Given the description of an element on the screen output the (x, y) to click on. 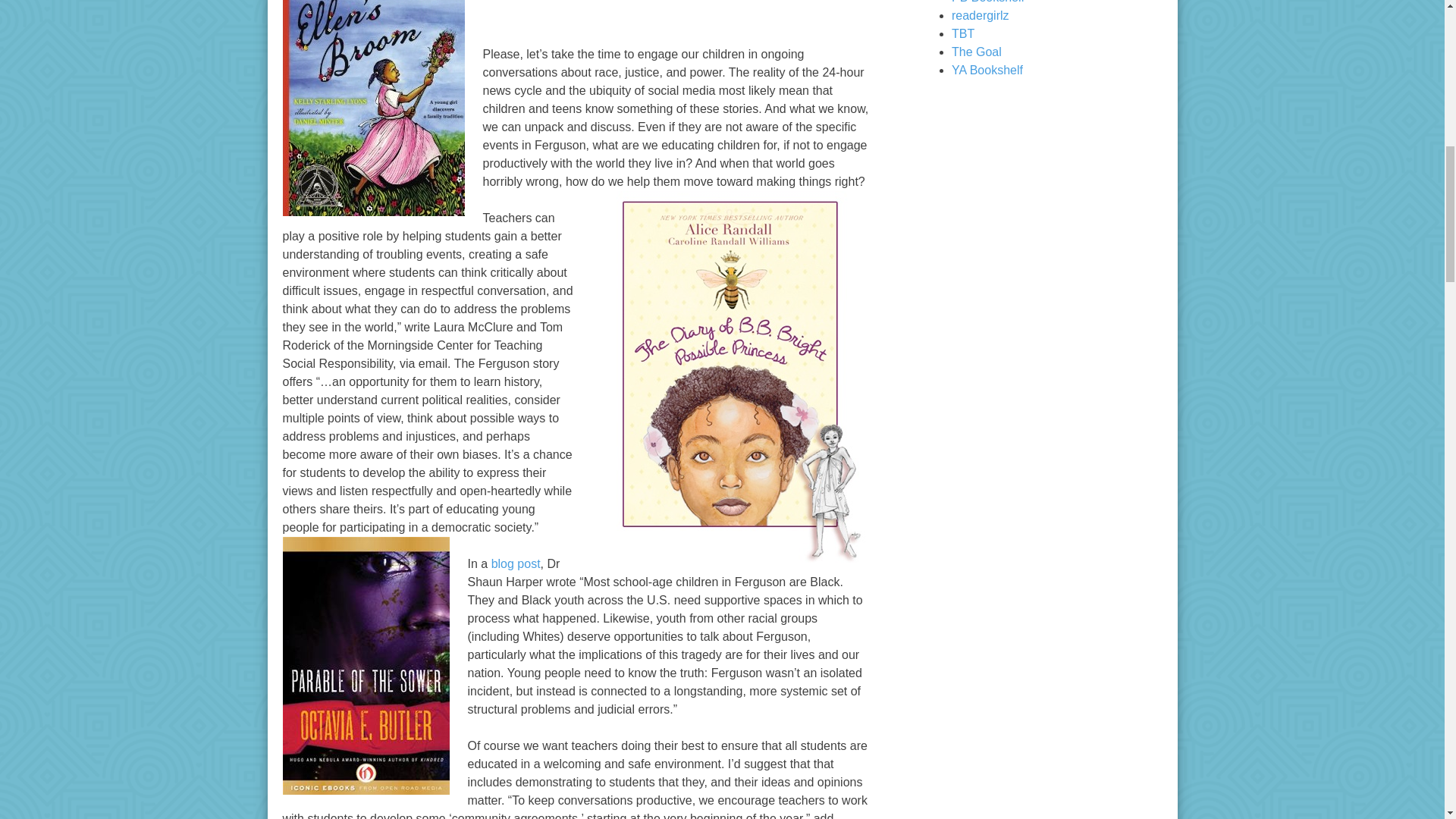
blog post (516, 563)
blog post (516, 563)
